Given the description of an element on the screen output the (x, y) to click on. 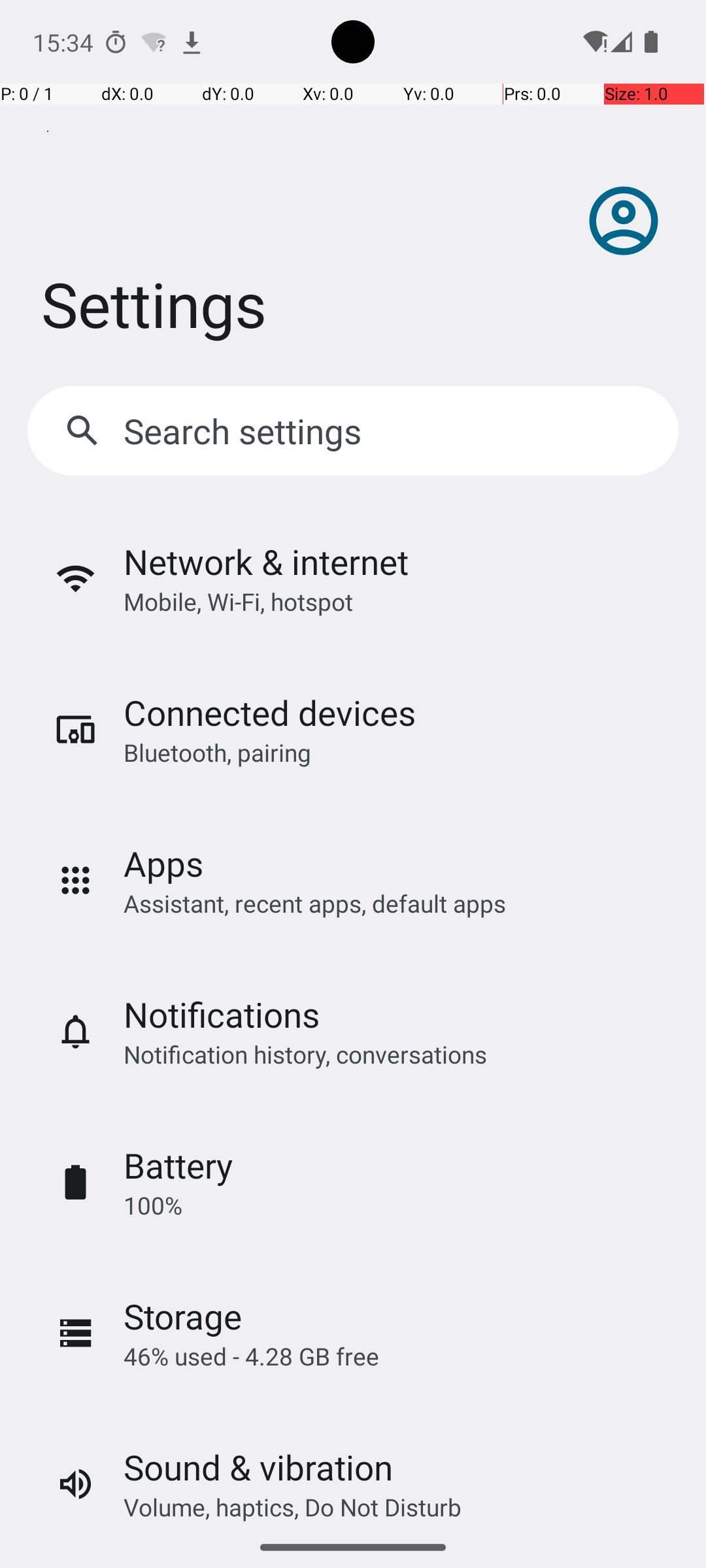
46% used - 4.28 GB free Element type: android.widget.TextView (251, 1355)
